Given the description of an element on the screen output the (x, y) to click on. 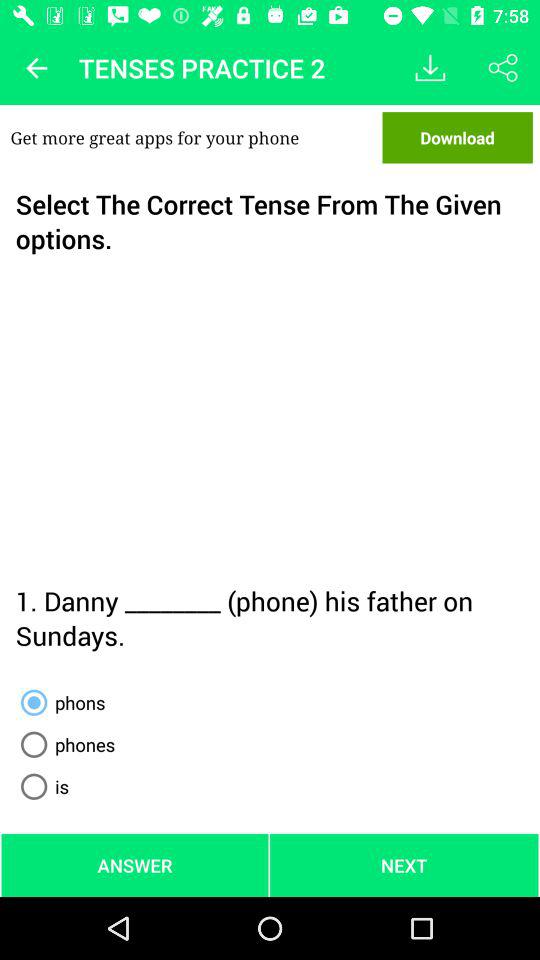
launch icon above phones radio button (59, 702)
